Given the description of an element on the screen output the (x, y) to click on. 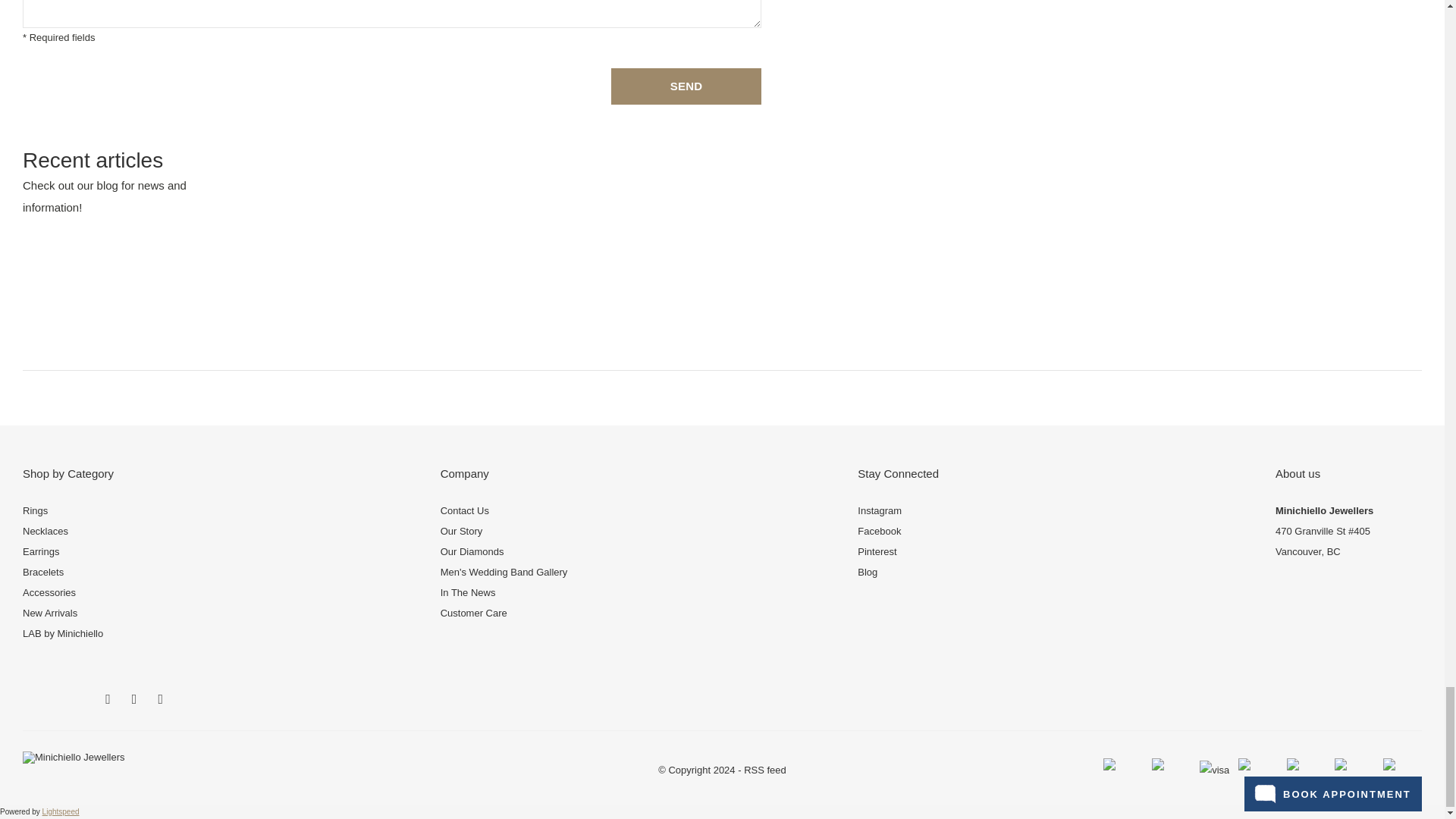
Lightspeed (61, 811)
